Given the description of an element on the screen output the (x, y) to click on. 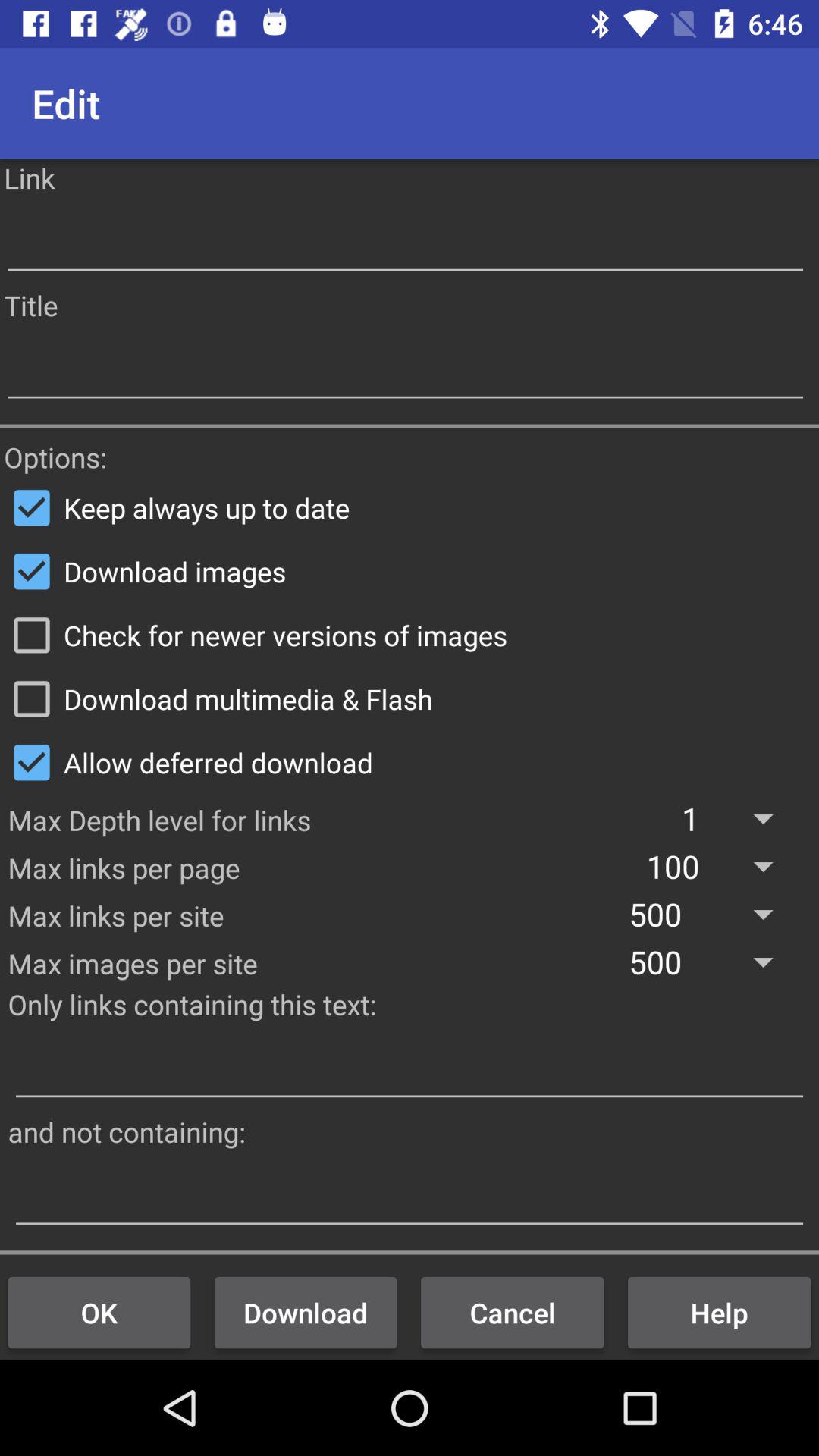
select button to the right of download (511, 1312)
